Given the description of an element on the screen output the (x, y) to click on. 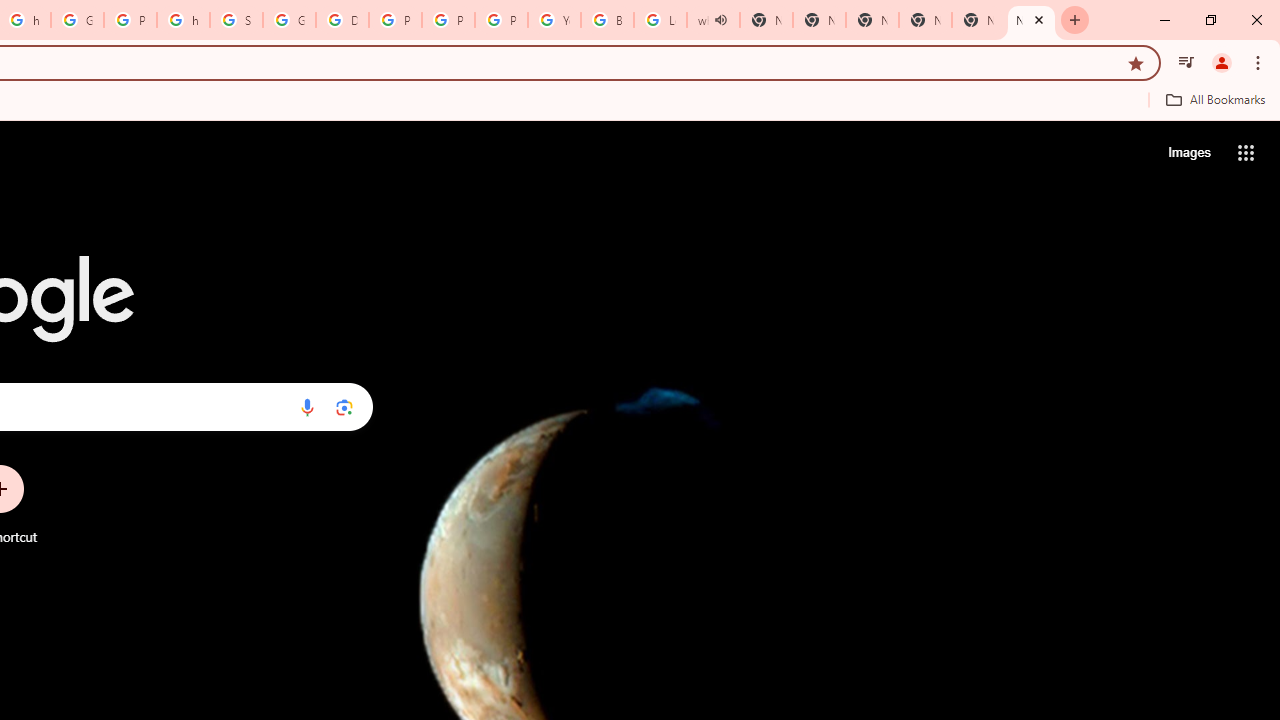
Mute tab (720, 20)
Search by voice (307, 407)
Search for Images  (1188, 152)
https://scholar.google.com/ (183, 20)
New Tab (1031, 20)
Sign in - Google Accounts (235, 20)
Browse Chrome as a guest - Computer - Google Chrome Help (607, 20)
Search by image (344, 407)
